Given the description of an element on the screen output the (x, y) to click on. 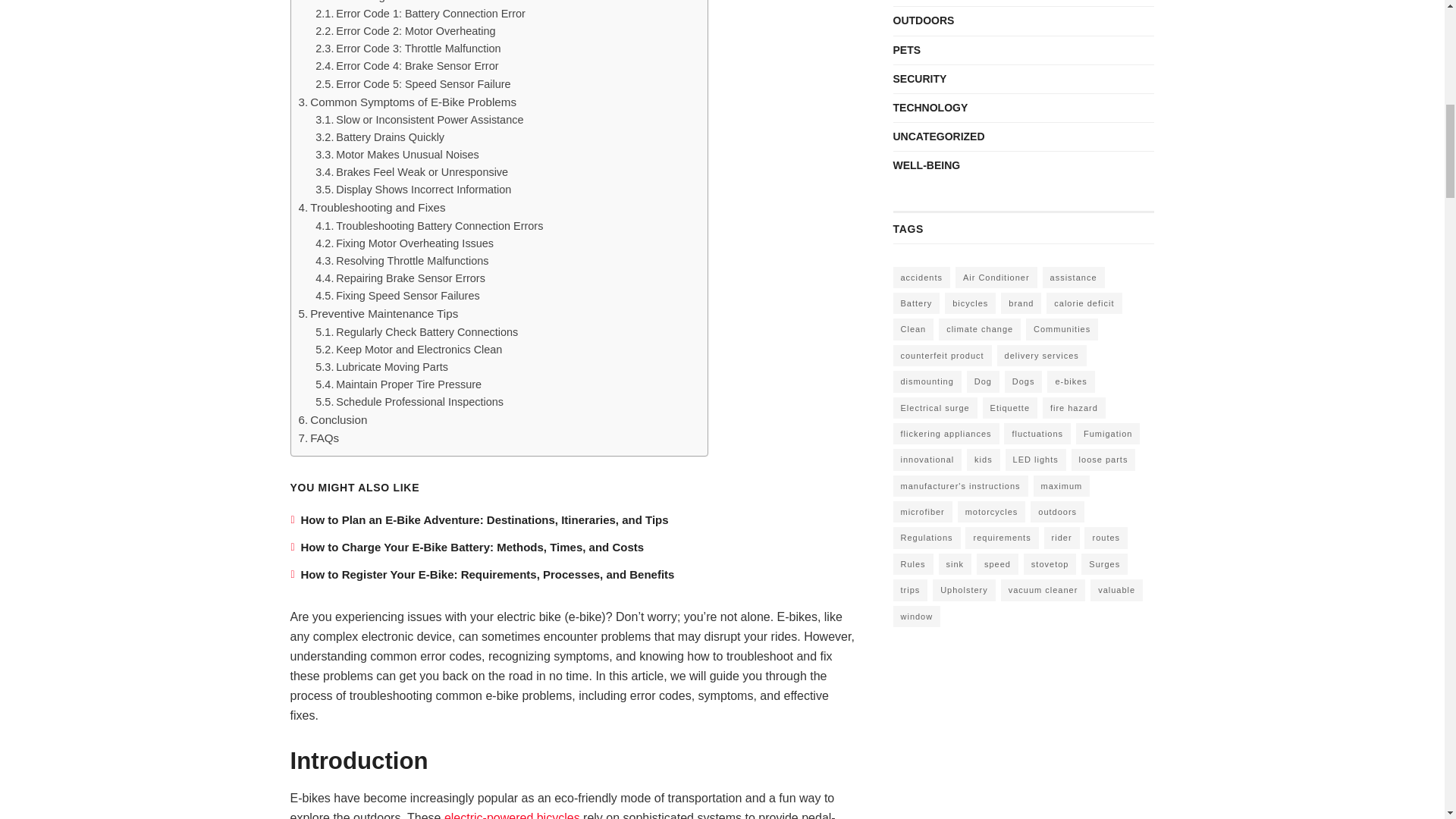
Error Code 4: Brake Sensor Error (406, 66)
Common Symptoms of E-Bike Problems (407, 102)
Error Code 3: Throttle Malfunction (407, 48)
Error Code 1: Battery Connection Error (420, 13)
Slow or Inconsistent Power Assistance (418, 119)
Understanding E-Bike Error Codes (392, 2)
Error Code 5: Speed Sensor Failure (413, 84)
Error Code 2: Motor Overheating (405, 31)
